Given the description of an element on the screen output the (x, y) to click on. 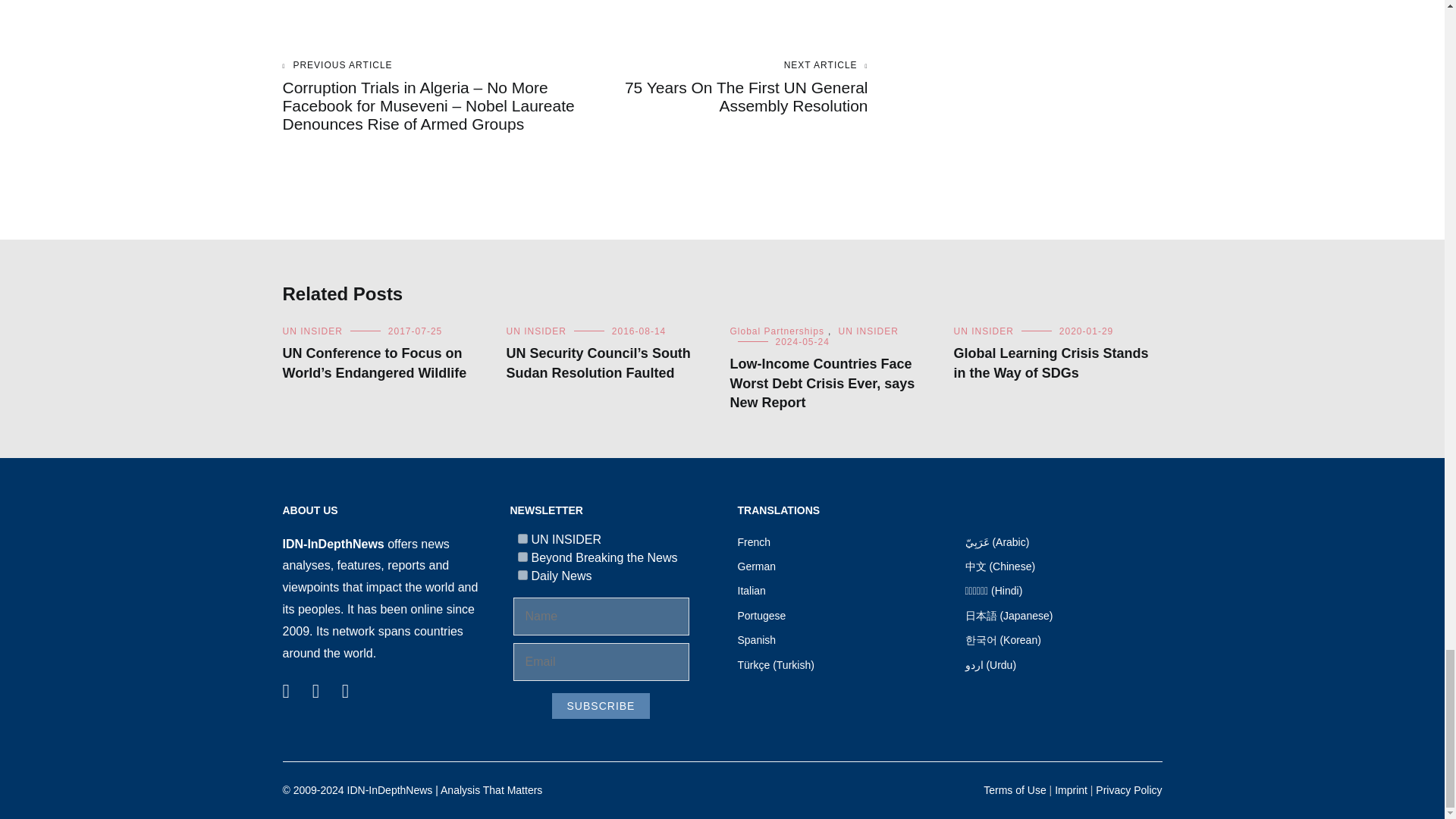
9 (521, 556)
7 (521, 538)
Terms of Use (1014, 789)
10 (521, 574)
Imprint (1070, 789)
